Given the description of an element on the screen output the (x, y) to click on. 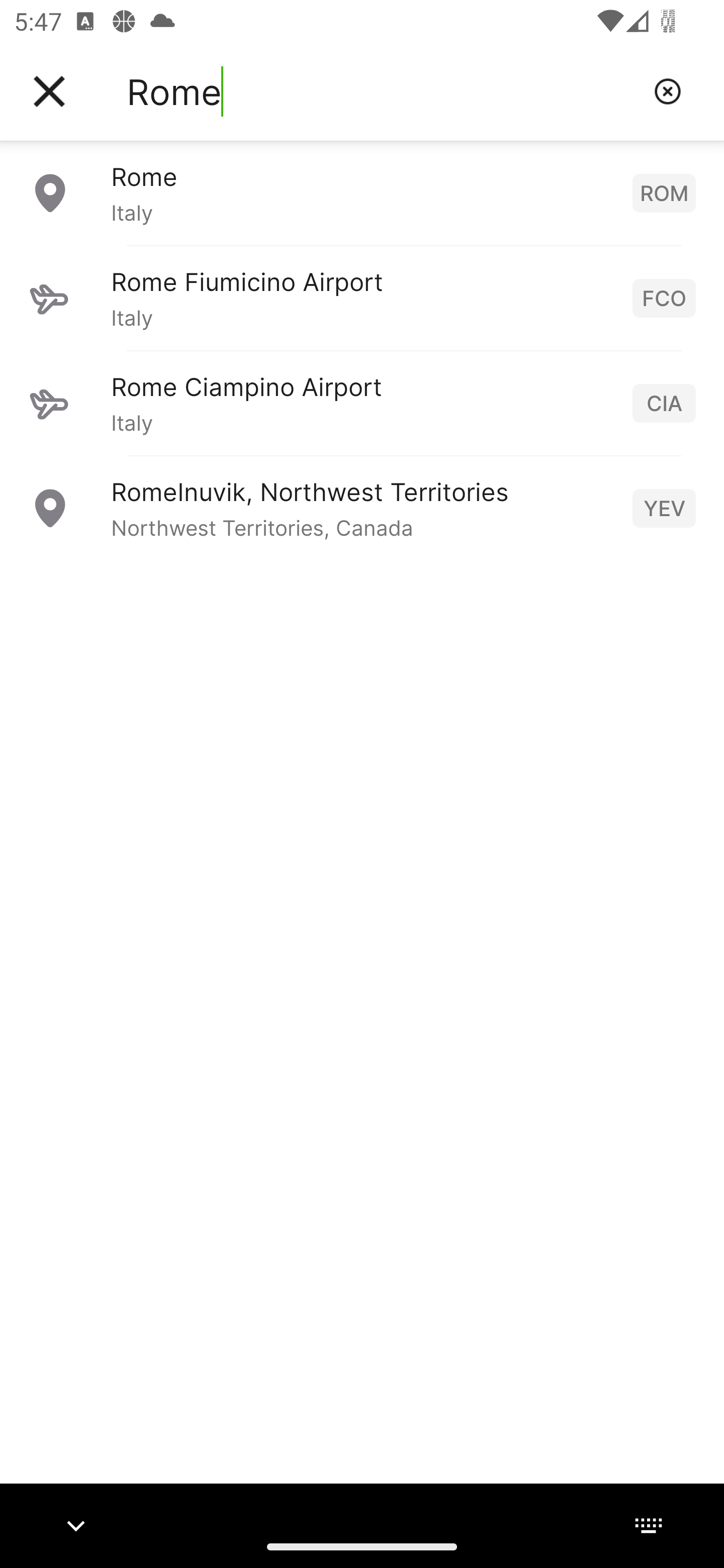
Rome (382, 91)
Rome Italy ROM (362, 192)
Rome Fiumicino Airport Italy FCO (362, 297)
Rome Ciampino Airport Italy CIA (362, 402)
